Given the description of an element on the screen output the (x, y) to click on. 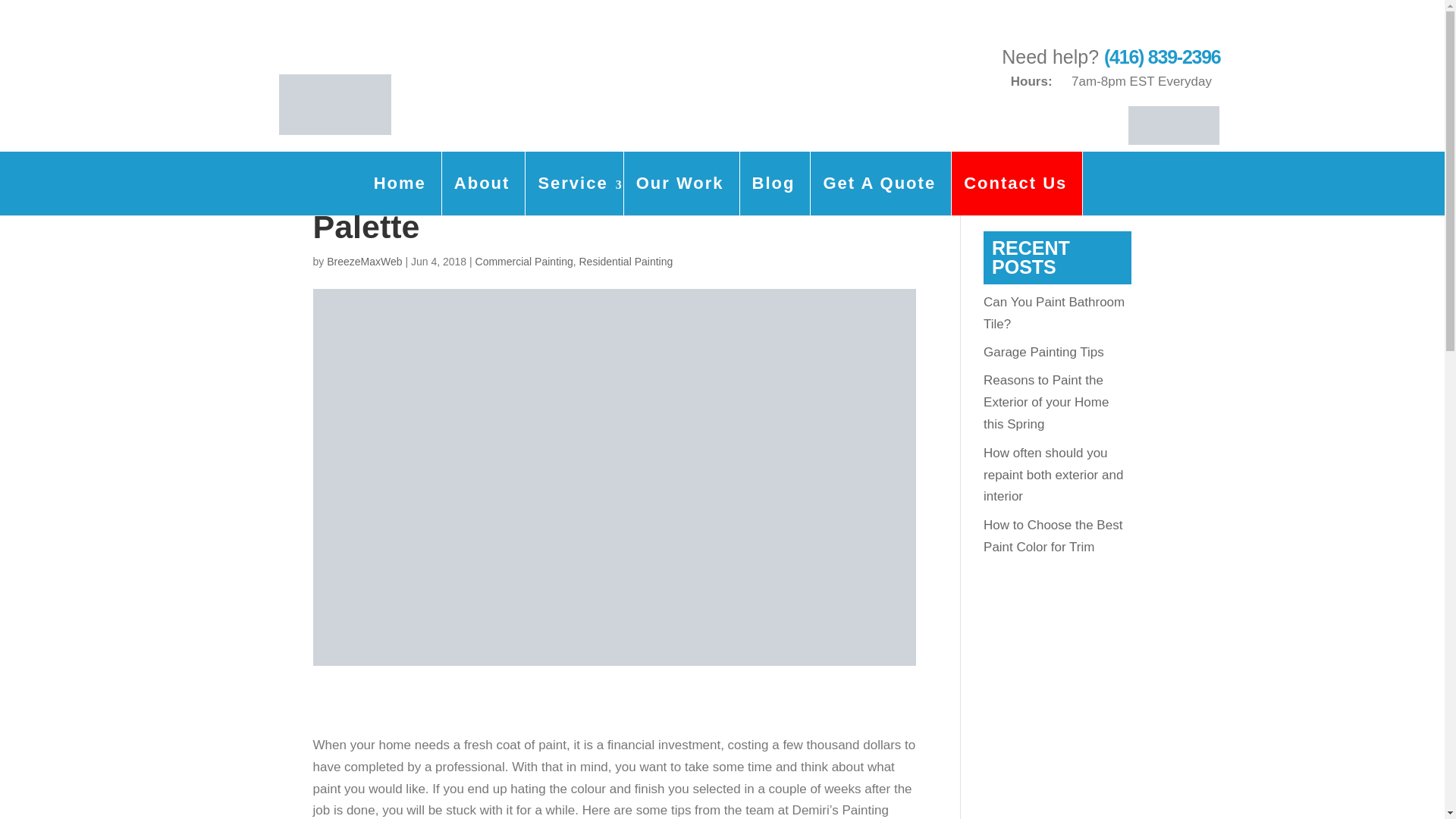
BreezeMaxWeb (363, 261)
Our Work (680, 183)
Reasons to Paint the Exterior of your Home this Spring (1046, 402)
Service (572, 183)
How to Choose the Best Paint Color for Trim (1053, 535)
Commercial Painting (524, 261)
Search (1106, 193)
Contact Us (1015, 183)
Blog (773, 183)
Home (399, 183)
